Given the description of an element on the screen output the (x, y) to click on. 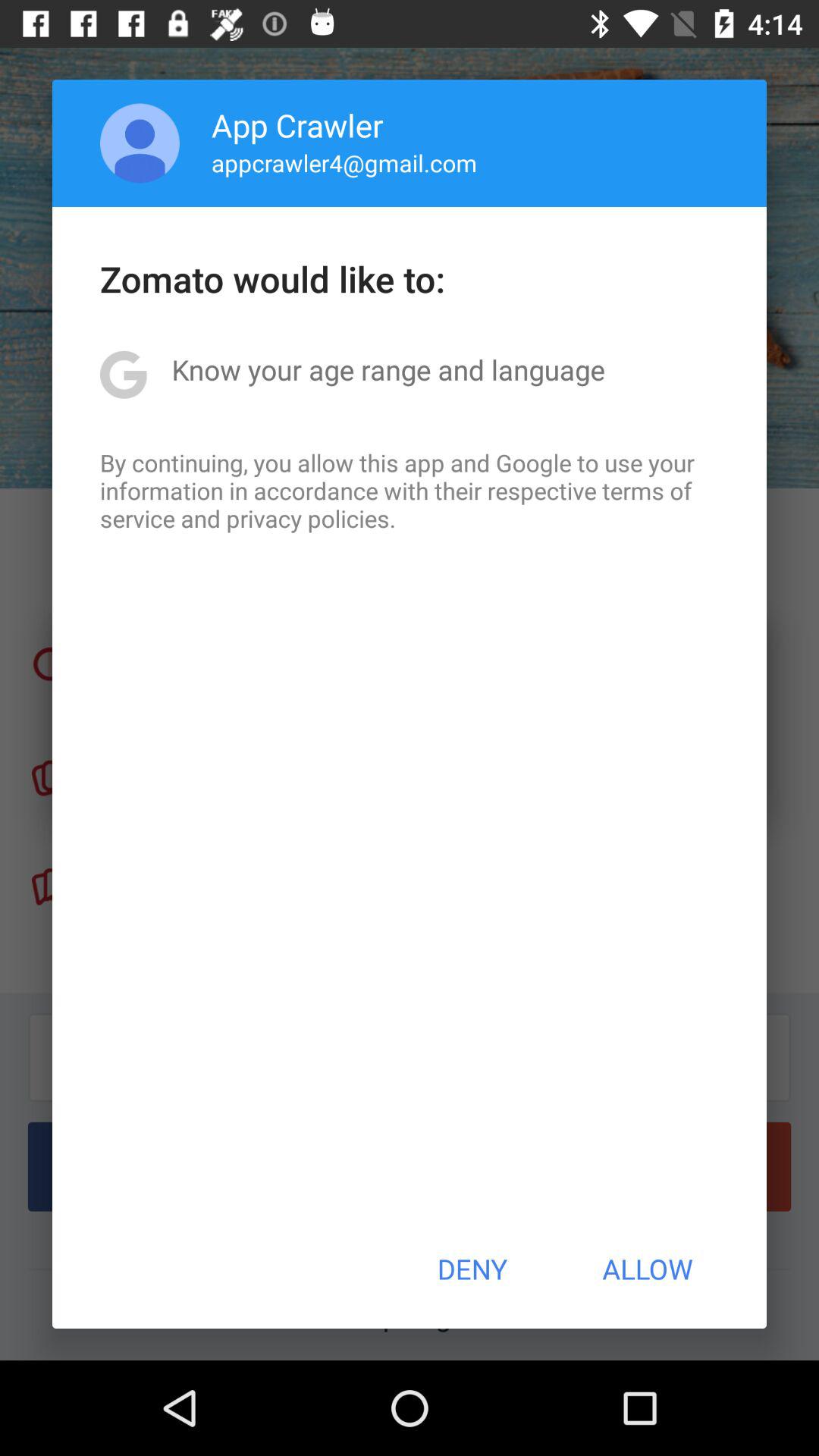
select item above zomato would like icon (344, 162)
